Given the description of an element on the screen output the (x, y) to click on. 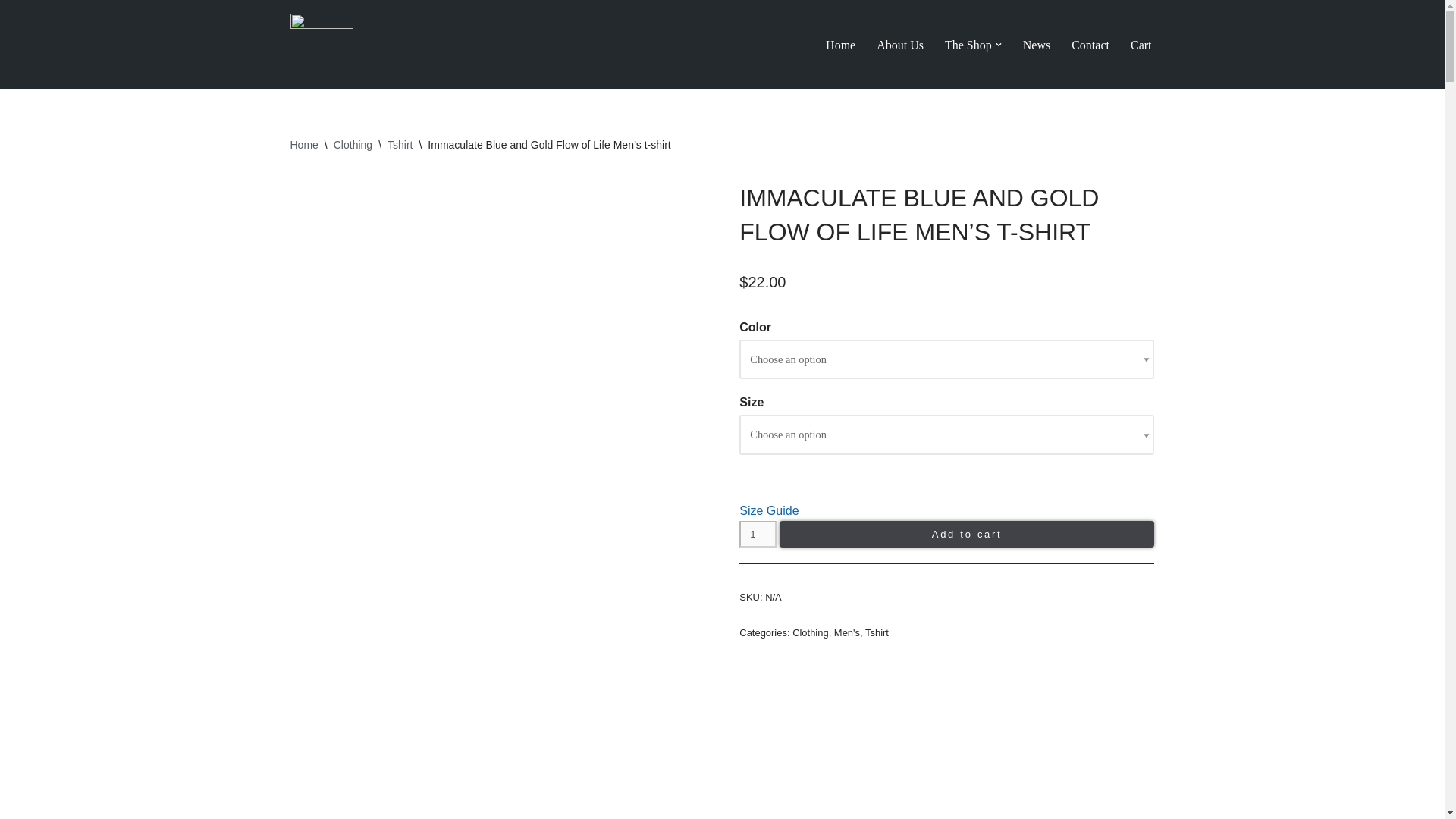
SACRED ATTIRE (320, 44)
Skip to content (11, 31)
Clothing (352, 144)
Contact (1090, 45)
Tshirt (399, 144)
The Shop (967, 45)
1 (757, 533)
Cart (1141, 45)
News (1036, 45)
Home (840, 45)
